Given the description of an element on the screen output the (x, y) to click on. 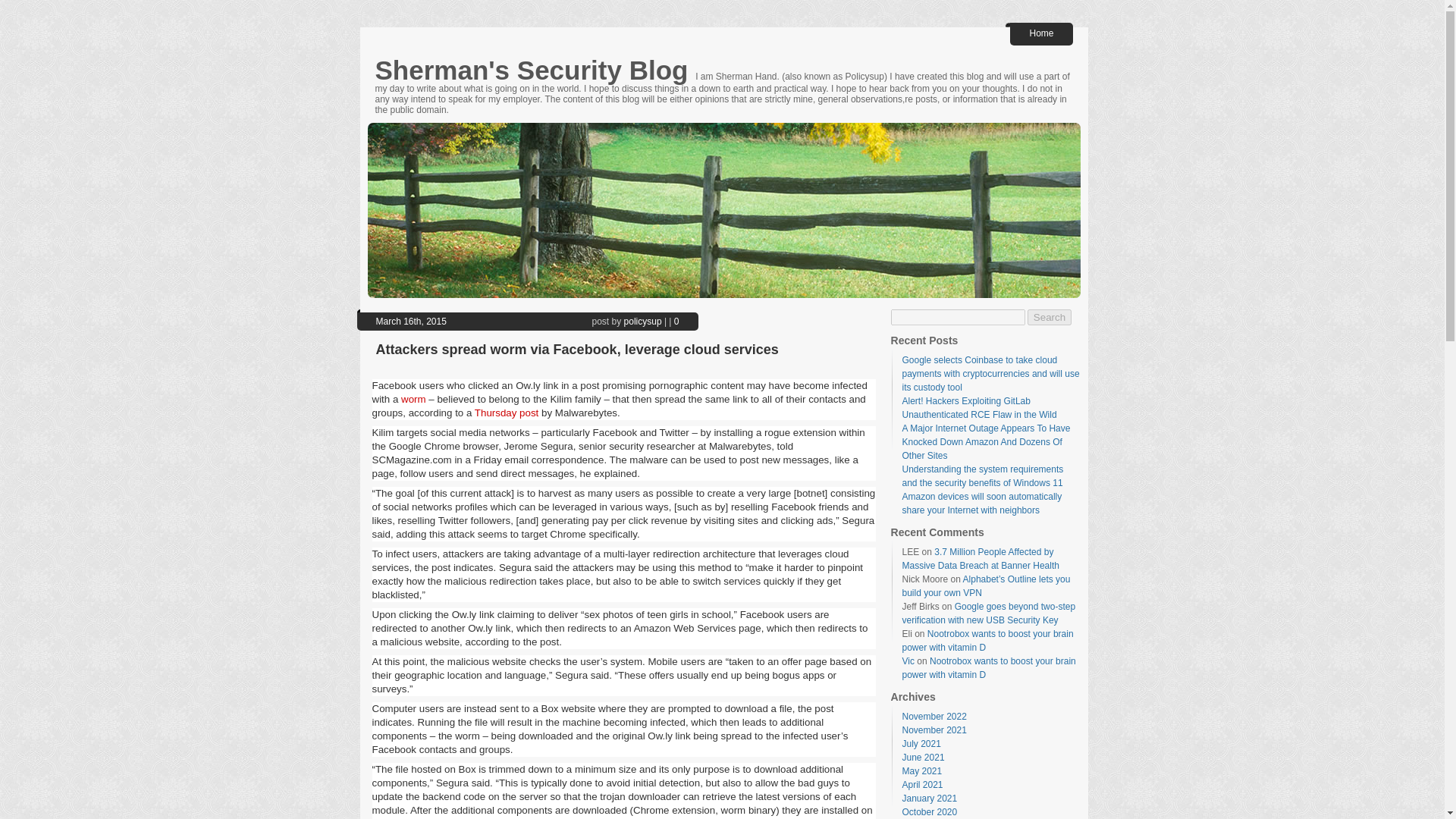
Attackers spread worm via Facebook, leverage cloud services (410, 321)
policysup (643, 321)
Attackers spread worm via Facebook, leverage cloud services (576, 349)
Search (1049, 317)
Search (1049, 317)
November 2022 (934, 716)
March 16th, 2015 (410, 321)
Nootrobox wants to boost your brain power with vitamin D (988, 668)
Sherman's Security Blog (534, 70)
Thursday post (506, 412)
worm (413, 398)
Vic (908, 661)
